Given the description of an element on the screen output the (x, y) to click on. 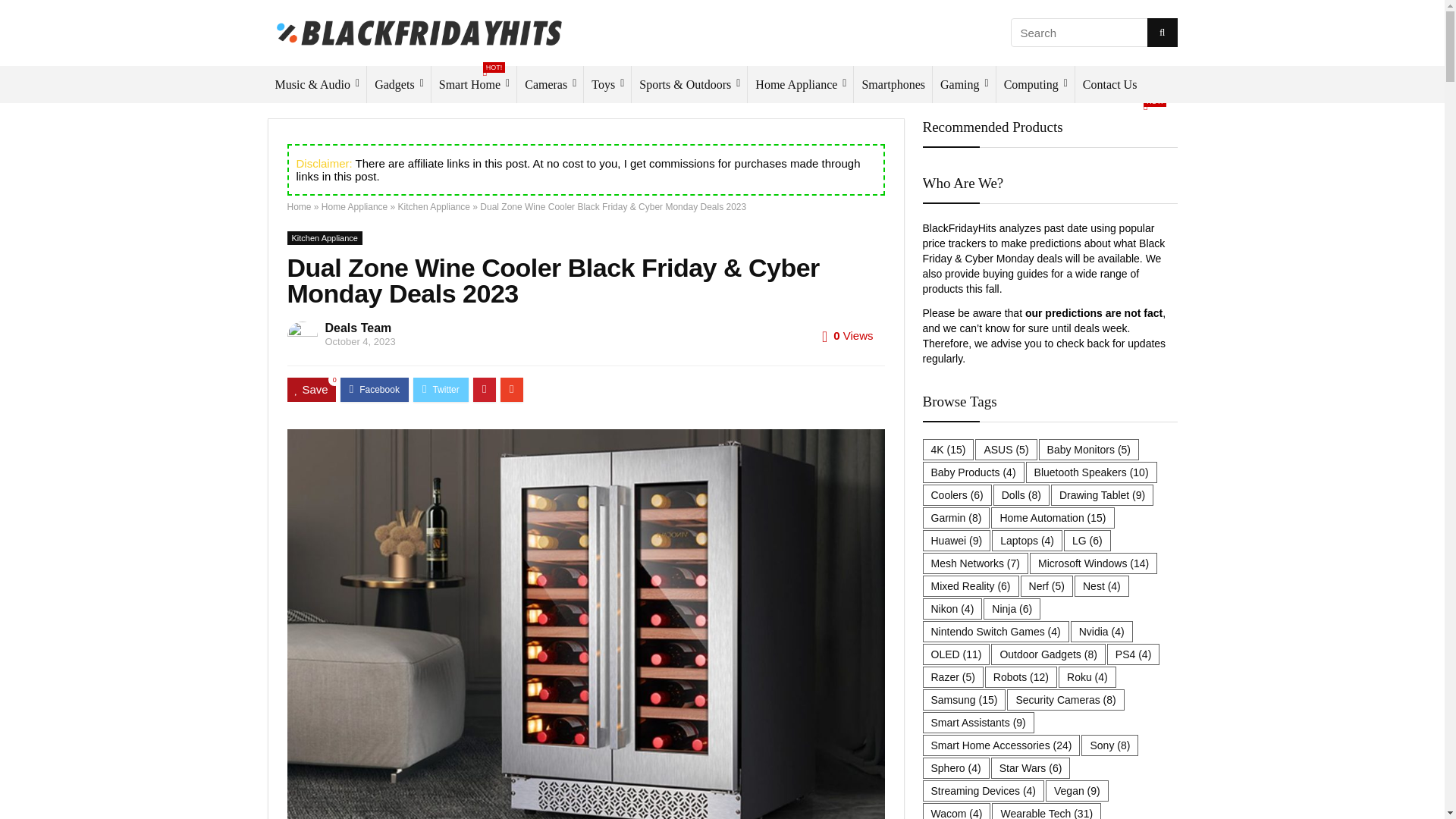
Cameras (549, 84)
Toys (606, 84)
Home Appliance (800, 84)
View all posts in Kitchen Appliance (323, 237)
Gadgets (473, 84)
